Given the description of an element on the screen output the (x, y) to click on. 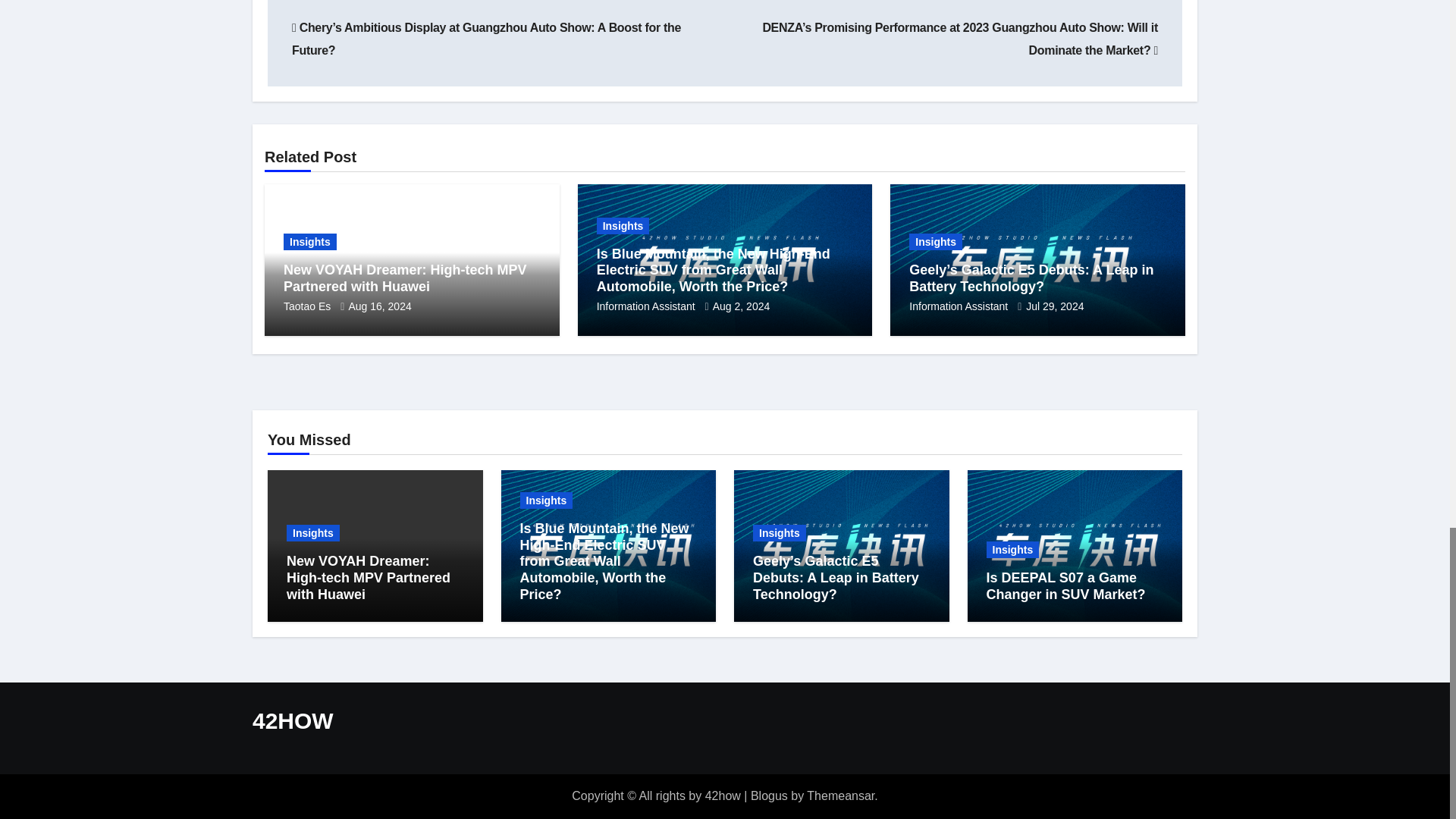
Aug 2, 2024 (741, 306)
Aug 16, 2024 (378, 306)
Permalink to: Is DEEPAL S07 a Game Changer in SUV Market? (1064, 585)
Insights (309, 241)
Insights (622, 225)
Insights (935, 241)
